Given the description of an element on the screen output the (x, y) to click on. 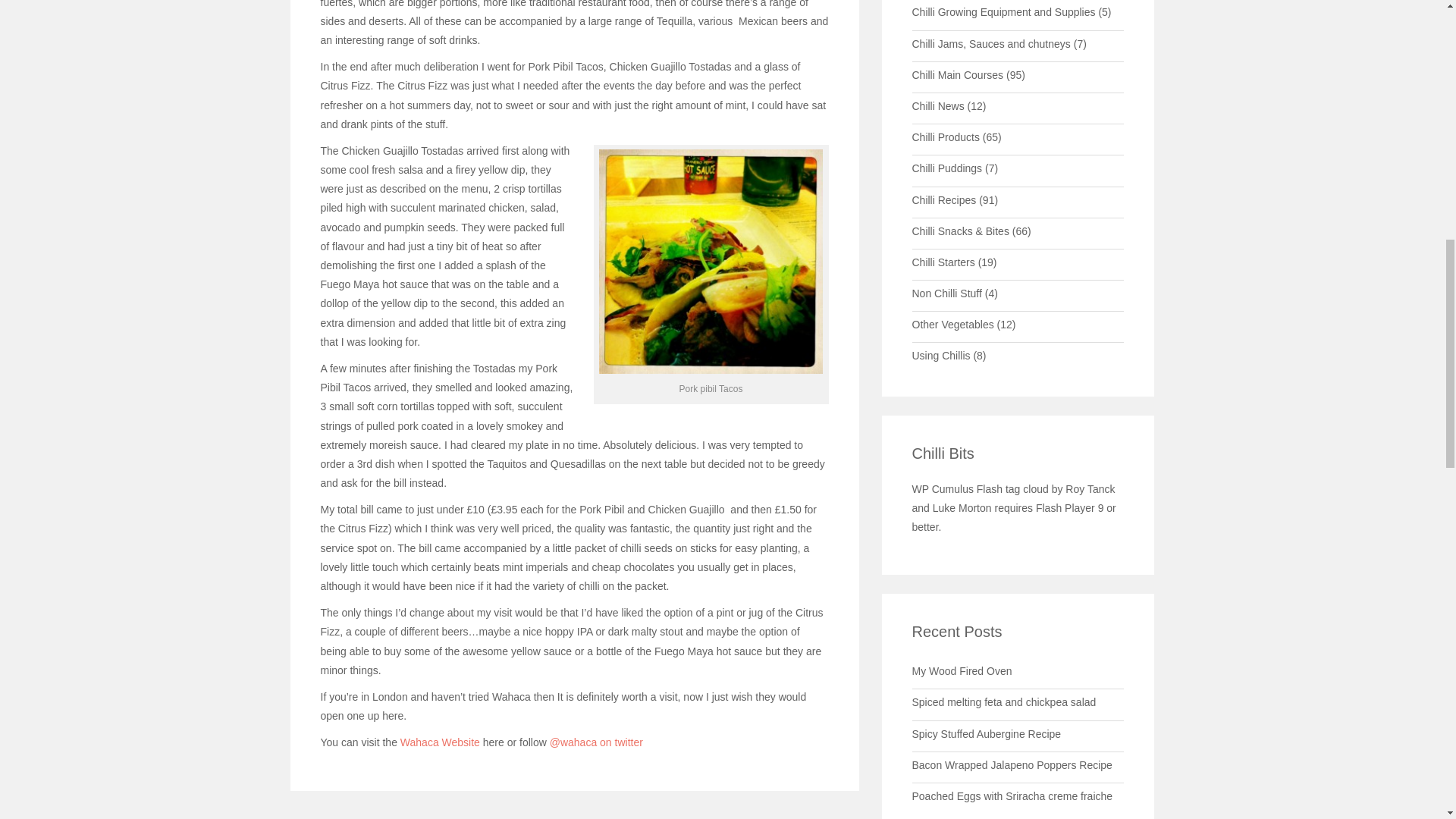
wahaca (596, 742)
Chilli Growing Equipment and Supplies (1002, 11)
Chilli Main Courses (957, 74)
Chilli News (937, 105)
Pork pibil Tacos (711, 261)
wahaca (440, 742)
Wahaca Website (440, 742)
Chilli Jams, Sauces and chutneys (990, 43)
